Given the description of an element on the screen output the (x, y) to click on. 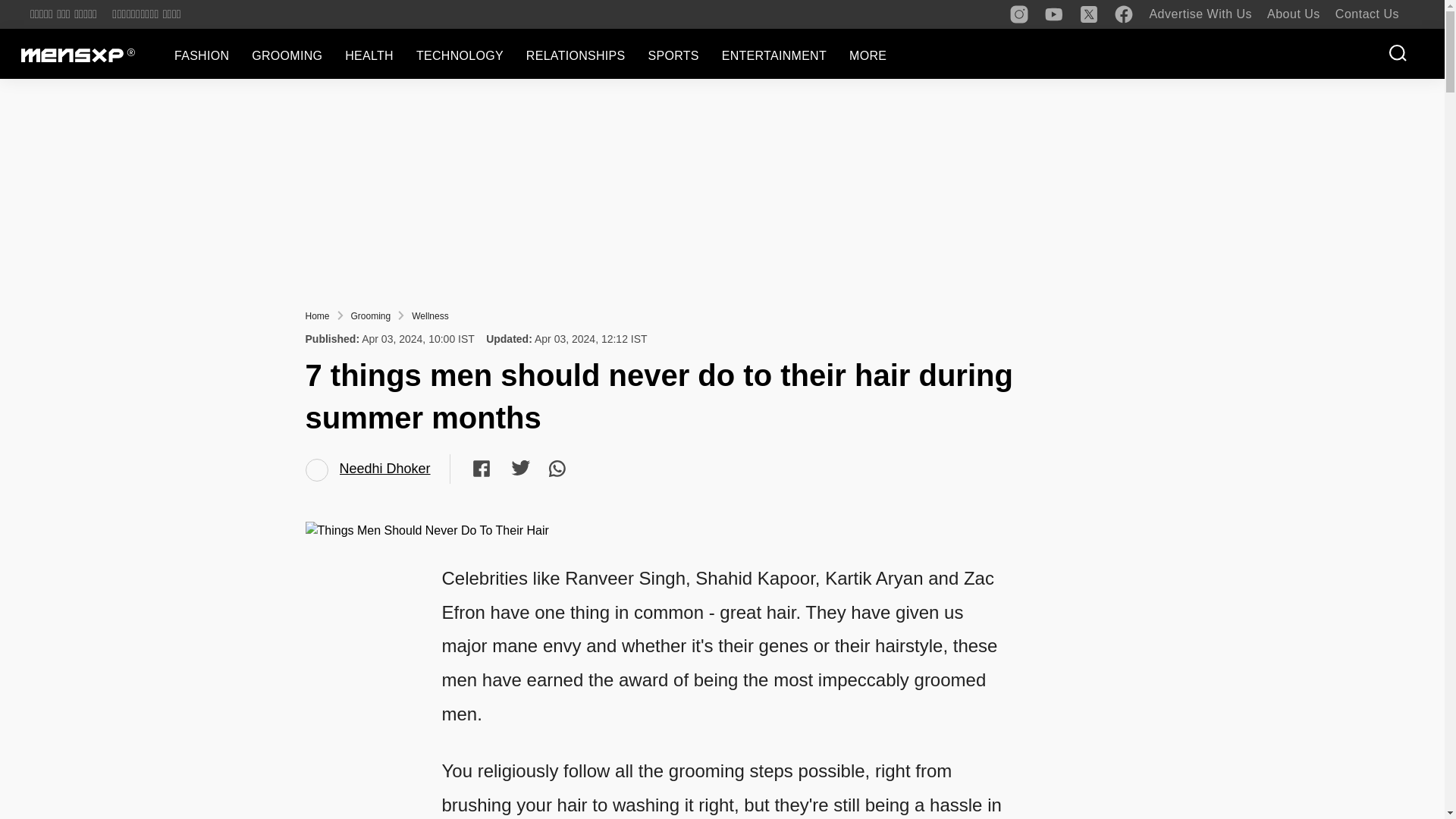
Advertise With Us (1200, 13)
Wellness (430, 316)
Contact Us  (1367, 13)
Grooming (370, 316)
Advertise With Us (1200, 13)
About Us (1293, 13)
Home (316, 316)
About Us (1293, 13)
Contact Us (1367, 13)
